Given the description of an element on the screen output the (x, y) to click on. 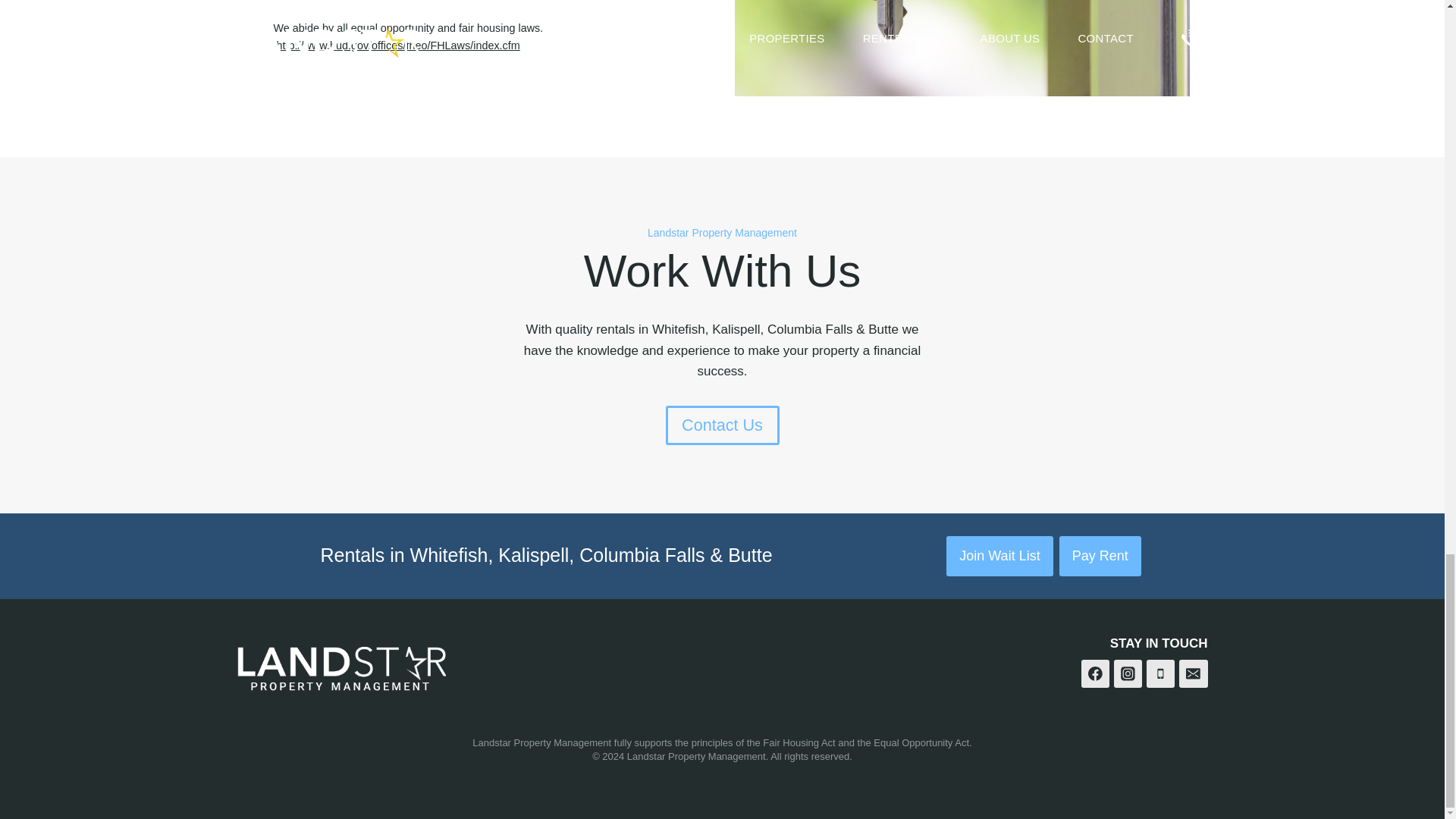
Contact Us (721, 425)
Pay Rent (1100, 556)
Join Wait List (999, 556)
